Given the description of an element on the screen output the (x, y) to click on. 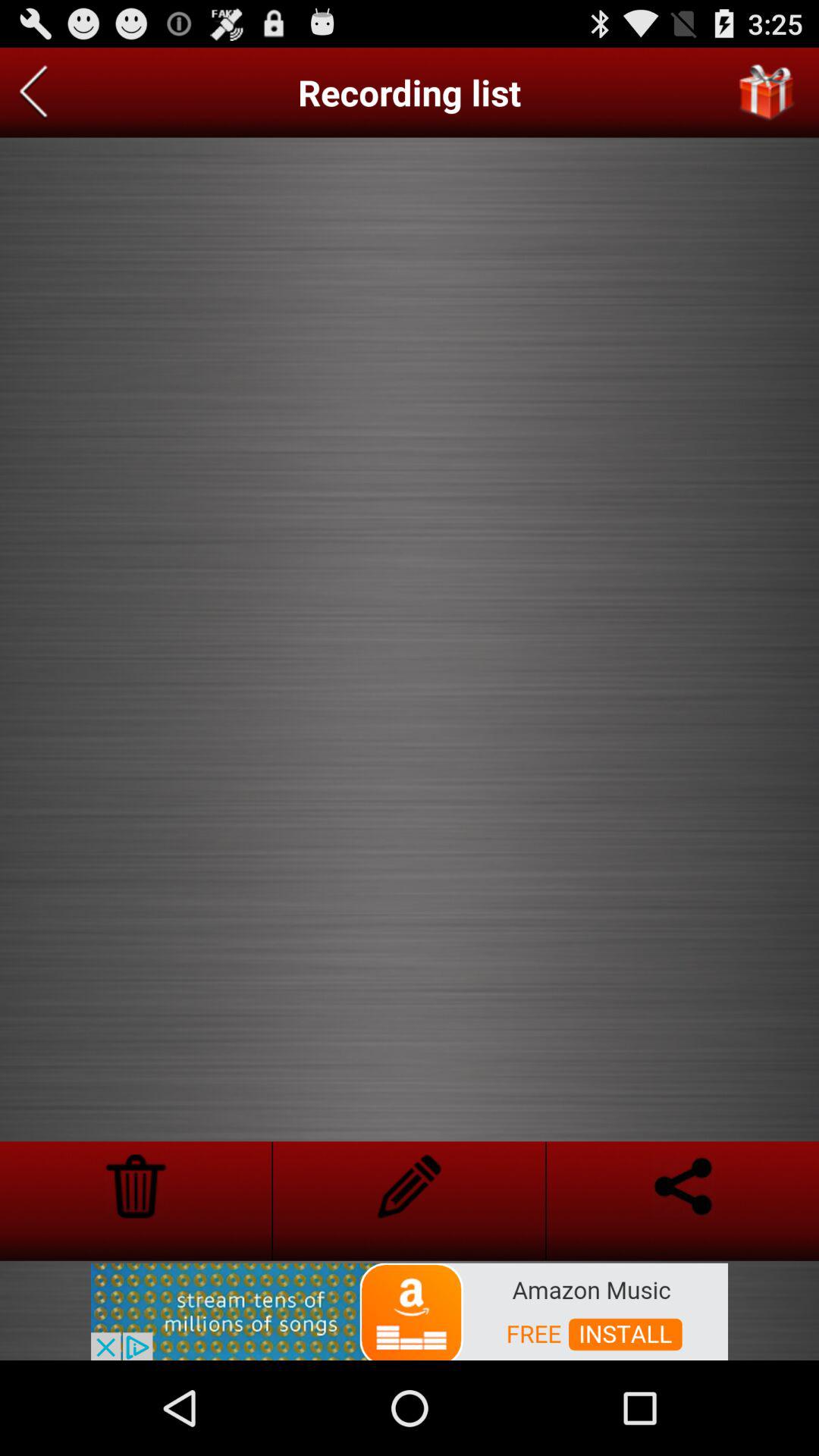
gift pega (767, 92)
